Given the description of an element on the screen output the (x, y) to click on. 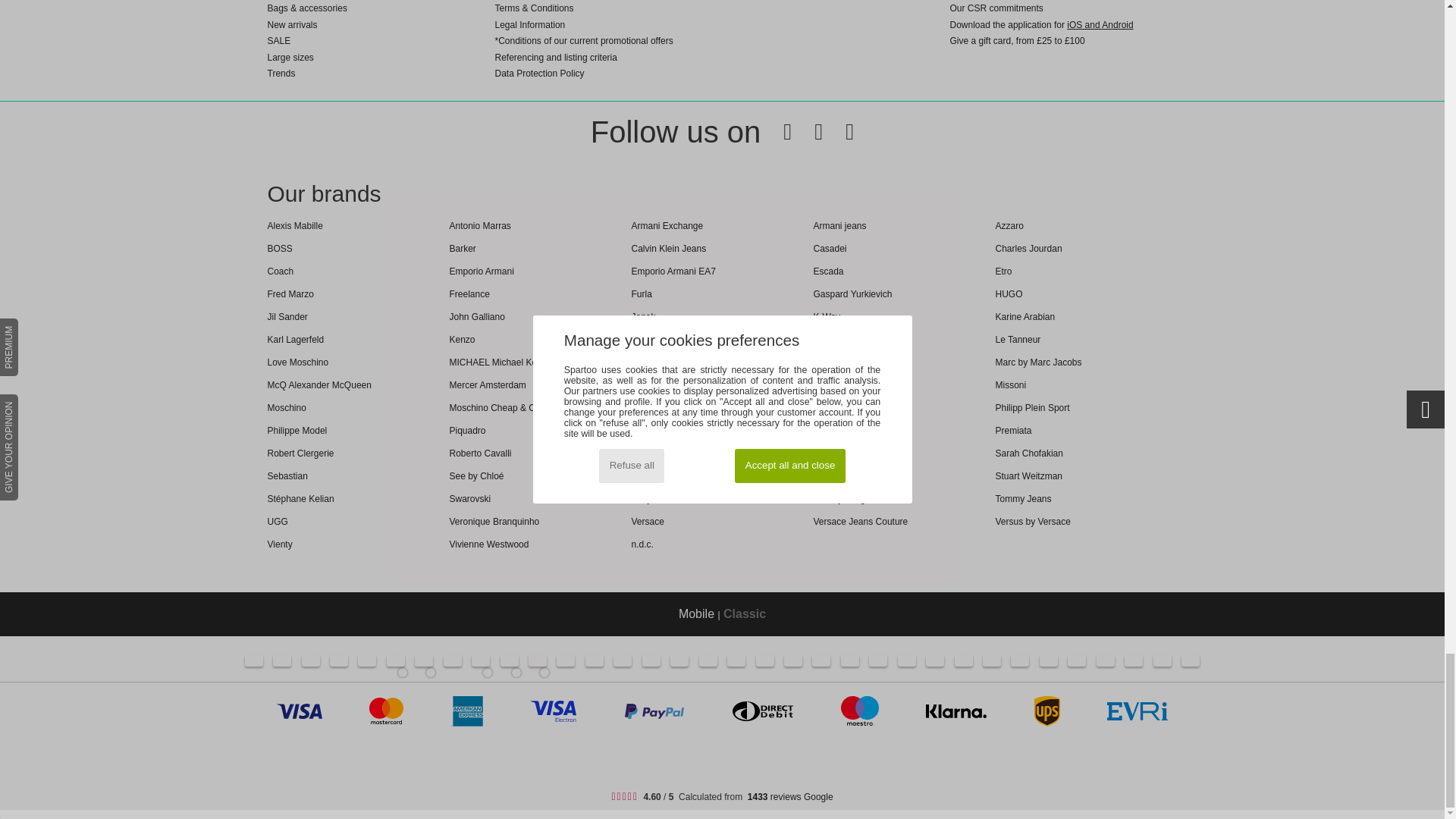
Instagram (837, 131)
United Kingdom (282, 663)
Twitter (807, 131)
France (253, 663)
Deutschland (366, 663)
Facebook (776, 131)
Italia (310, 663)
Belgique (395, 663)
Belgique (402, 672)
